Given the description of an element on the screen output the (x, y) to click on. 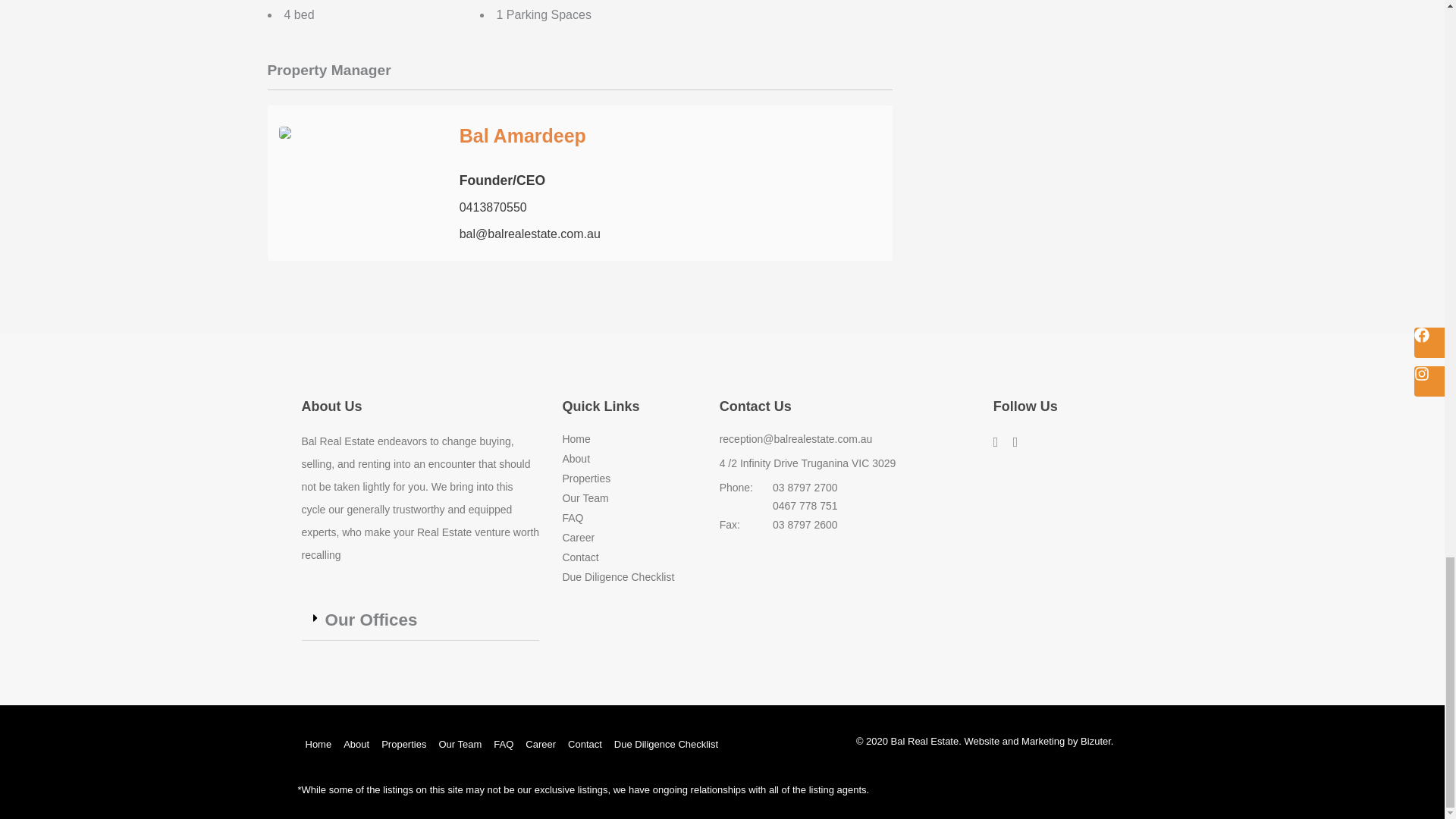
About (628, 459)
Home (628, 439)
Our Offices (370, 619)
Properties (628, 478)
0413870550 (493, 206)
Bal Amardeep (523, 135)
